Given the description of an element on the screen output the (x, y) to click on. 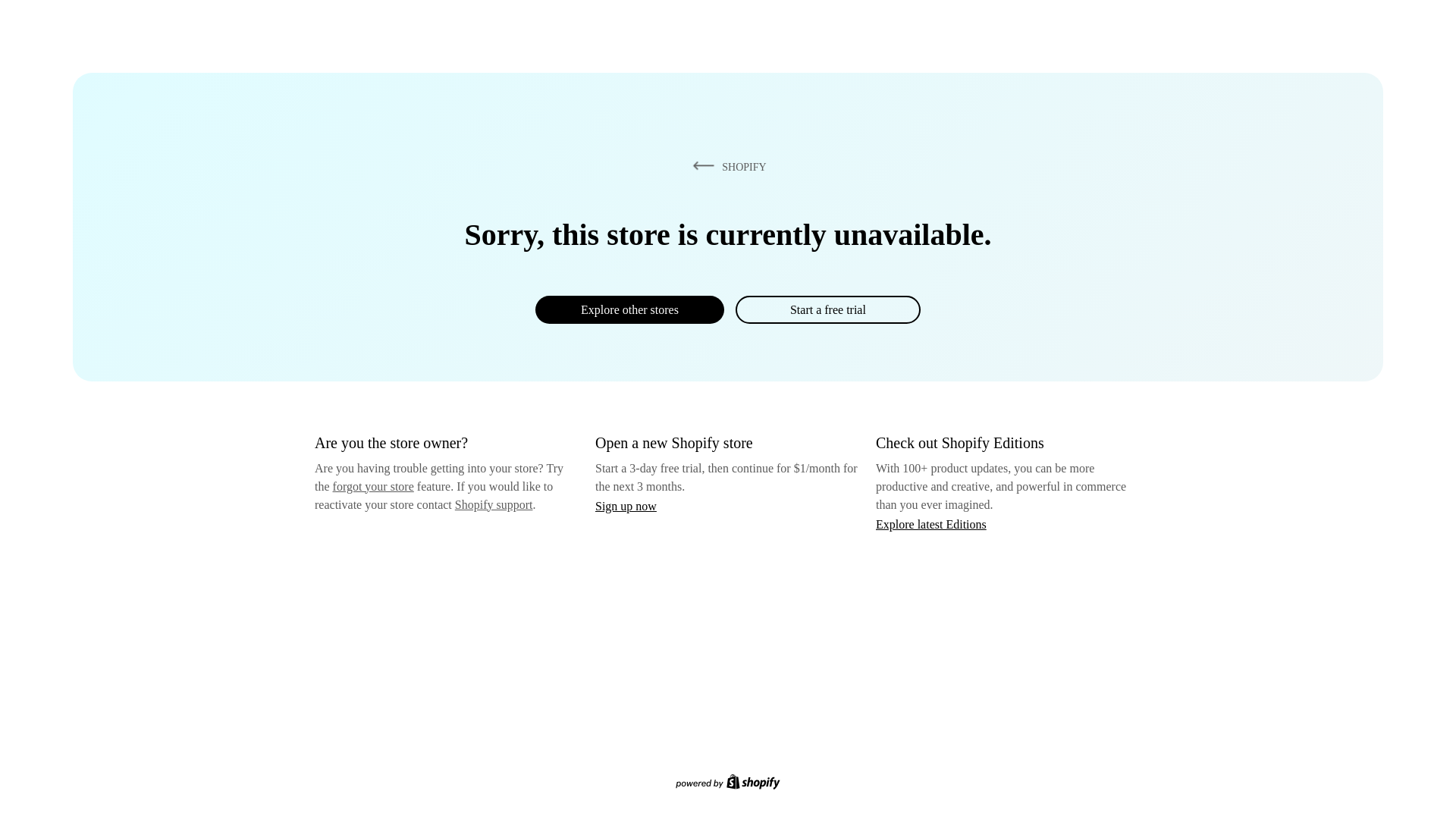
Shopify support (493, 504)
Explore latest Editions (931, 523)
SHOPIFY (726, 166)
Start a free trial (827, 309)
Sign up now (625, 505)
forgot your store (373, 486)
Explore other stores (629, 309)
